Given the description of an element on the screen output the (x, y) to click on. 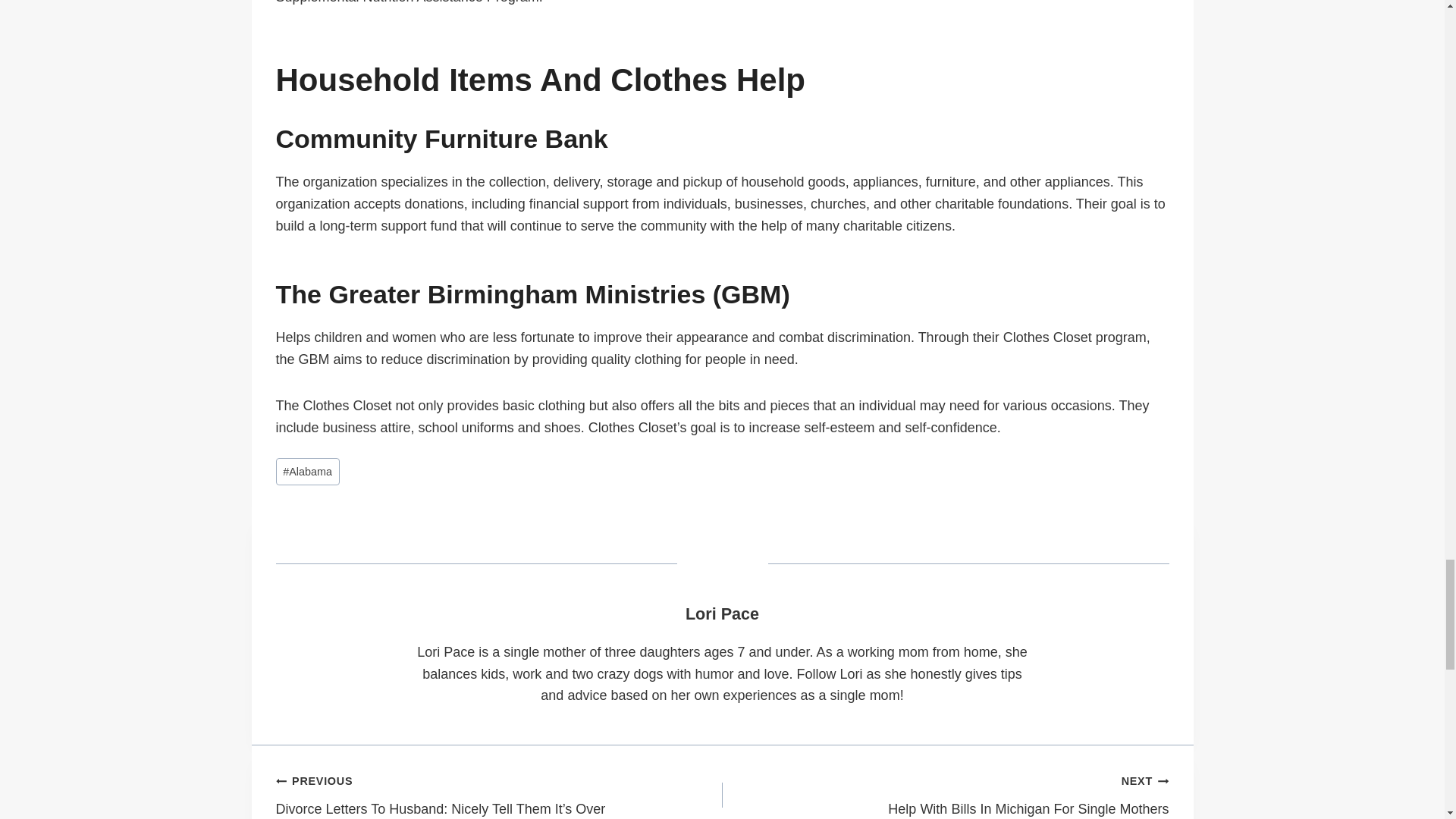
Posts by Lori Pace (721, 613)
Alabama (307, 471)
